Given the description of an element on the screen output the (x, y) to click on. 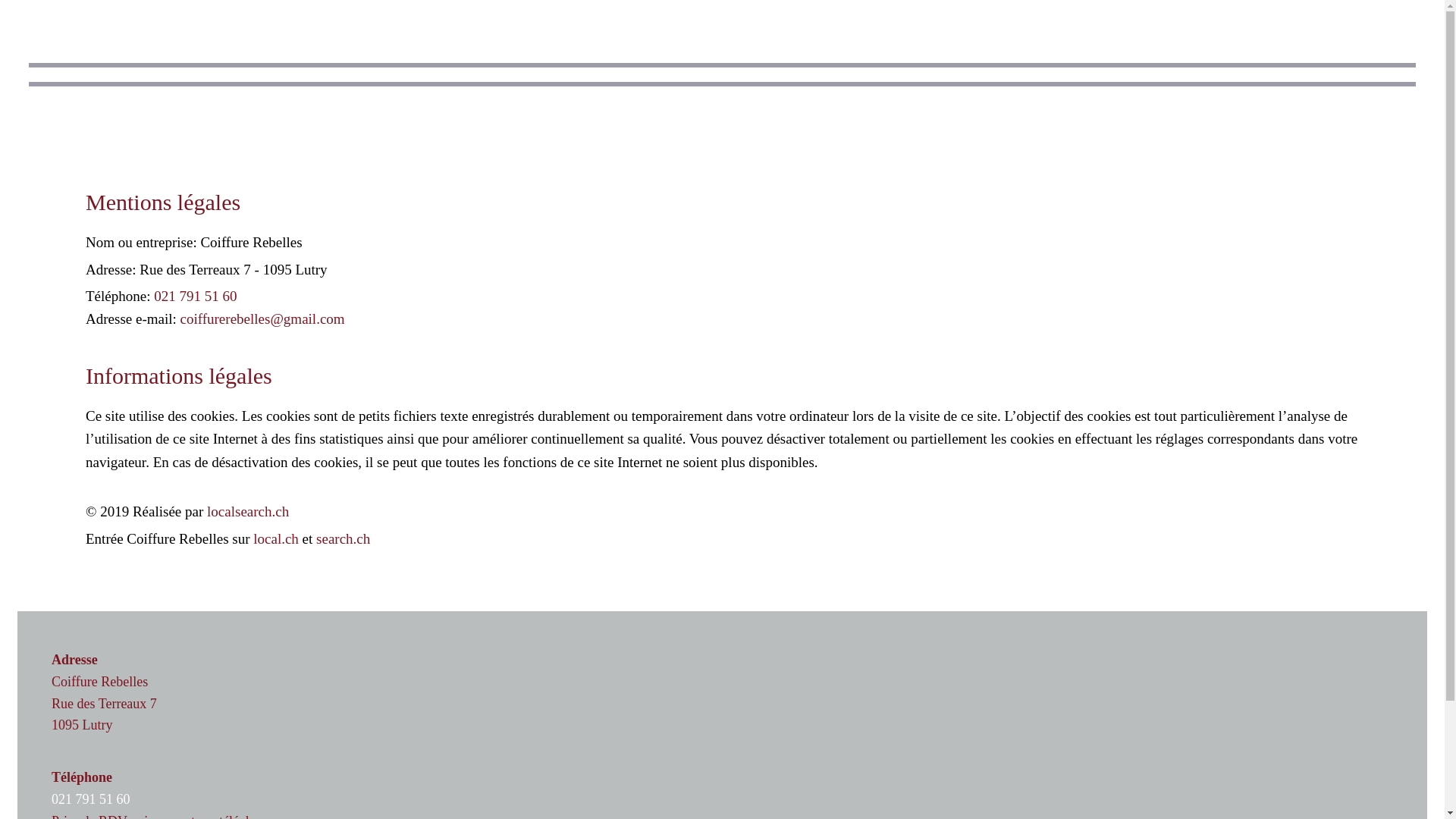
localsearch.ch Element type: text (247, 511)
local.ch Element type: text (275, 538)
search.ch Element type: text (343, 538)
021 791 51 60 Element type: text (194, 296)
coiffurerebelles@gmail.com Element type: text (262, 318)
021 791 51 60 Element type: text (90, 798)
